Given the description of an element on the screen output the (x, y) to click on. 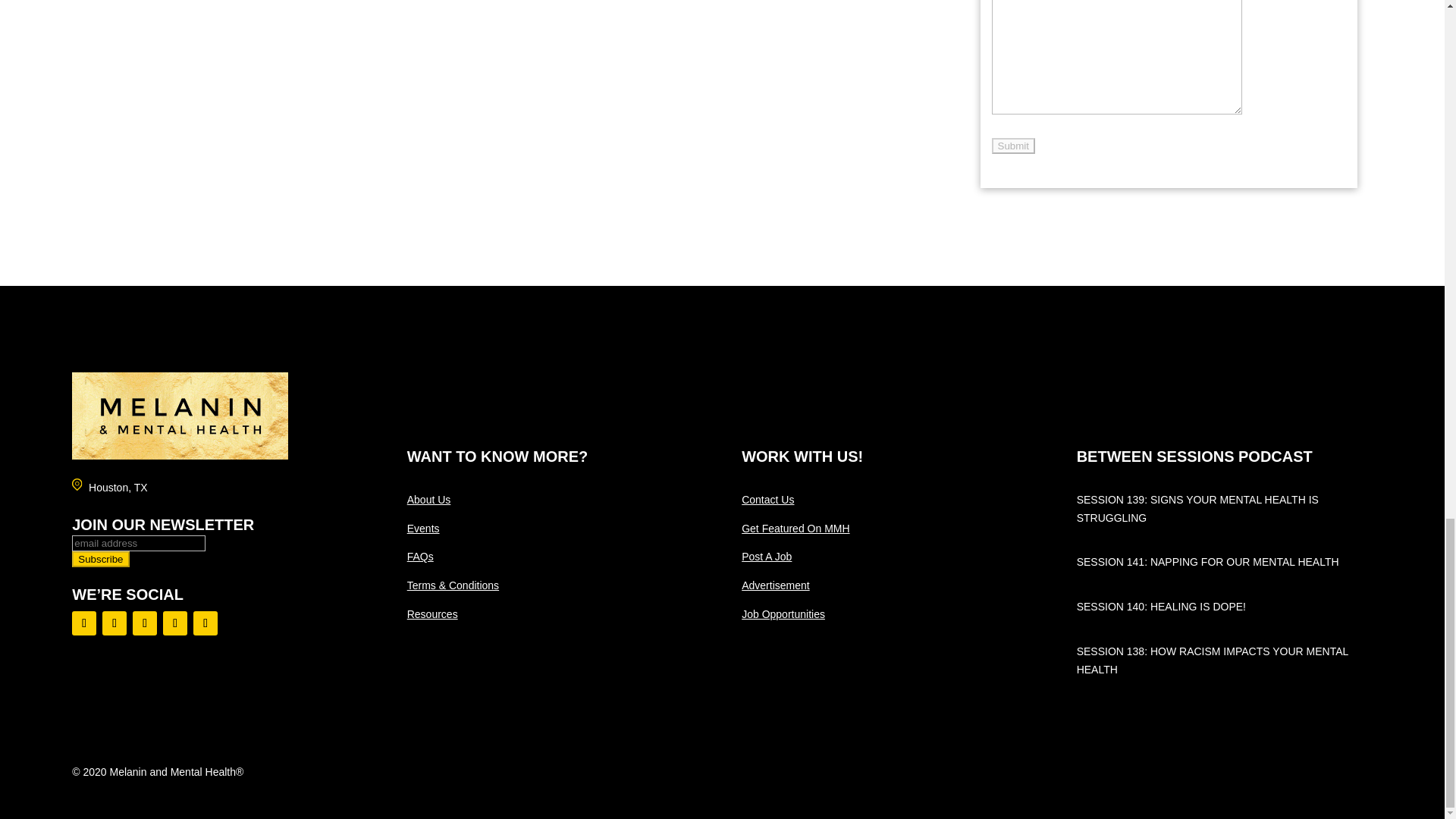
Follow on Youtube (113, 622)
Resources (432, 613)
Logo-gold-and-black-1024x412 (179, 415)
Follow on Facebook (83, 622)
Follow on LinkedIn (175, 622)
Subscribe (100, 559)
Get Featured On MMH (794, 528)
About Melanin and Mental Health (429, 499)
Follow on X (204, 622)
Submit (1013, 145)
Contact Us (767, 499)
Submit (1013, 145)
Follow on Instagram (144, 622)
About Us (429, 499)
Post A Job (766, 556)
